Given the description of an element on the screen output the (x, y) to click on. 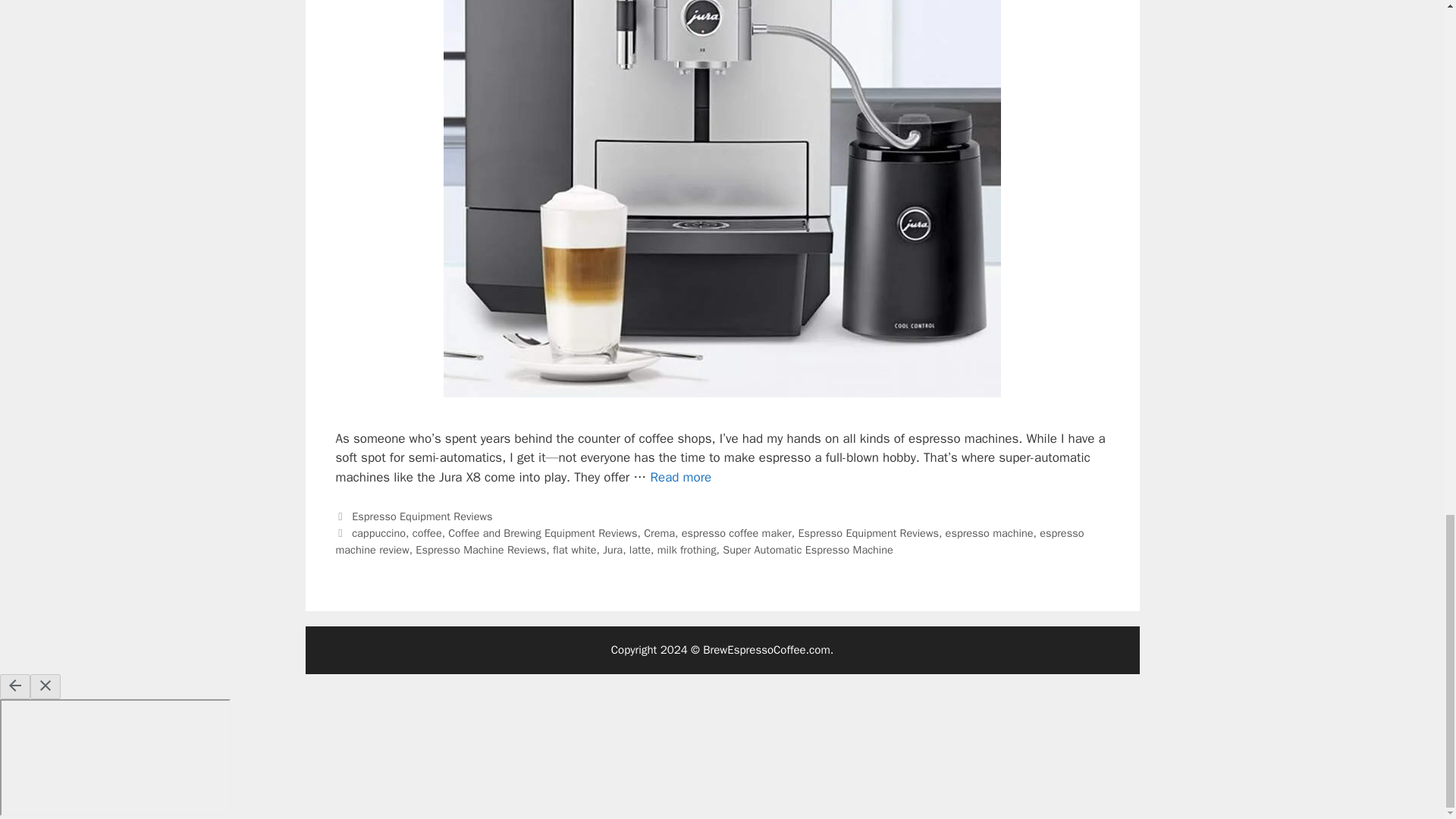
Jura X8 Review (680, 477)
Read more (680, 477)
Espresso Equipment Reviews (422, 516)
